Given the description of an element on the screen output the (x, y) to click on. 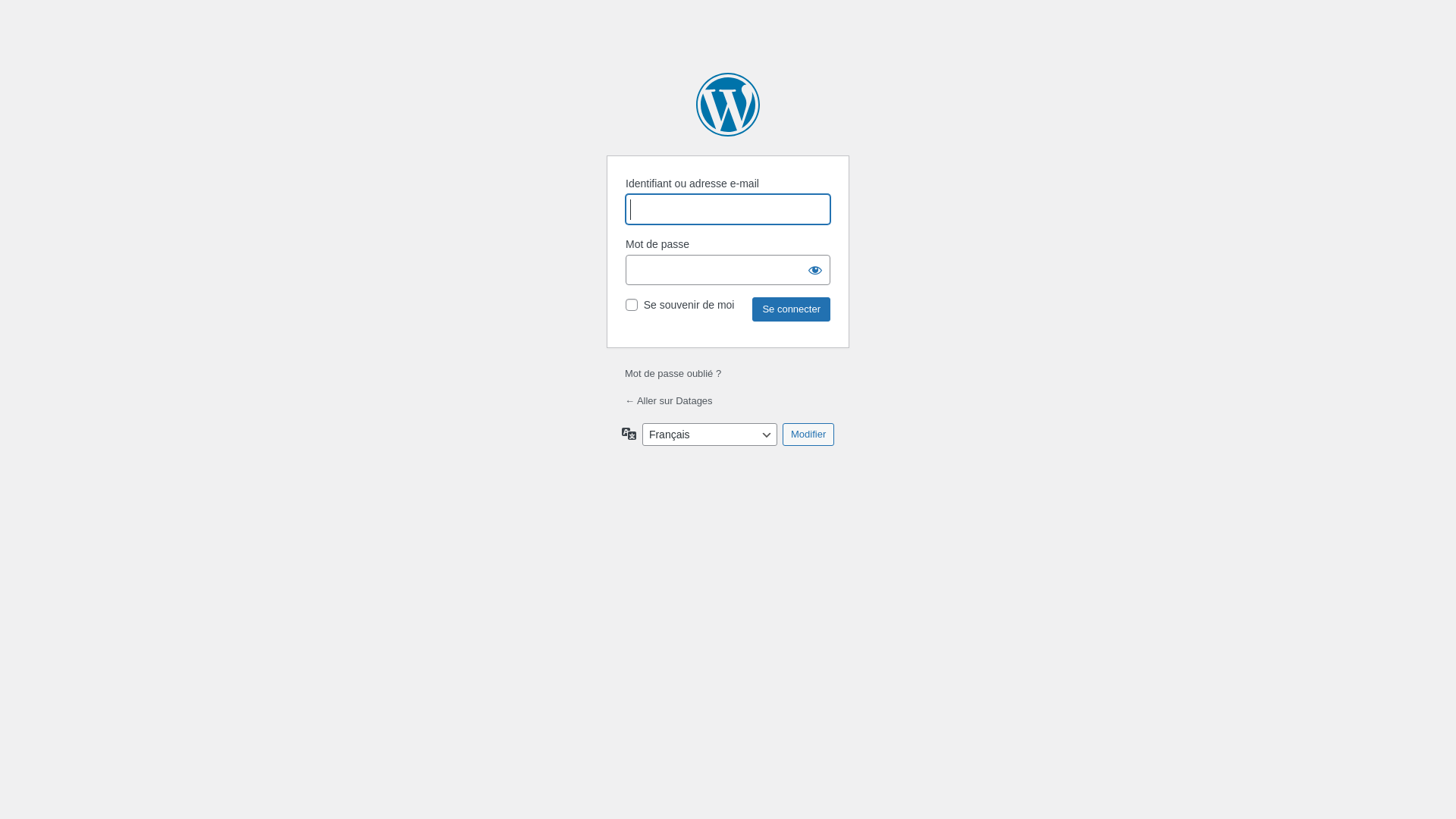
Se connecter Element type: text (791, 309)
Modifier Element type: text (808, 434)
